Given the description of an element on the screen output the (x, y) to click on. 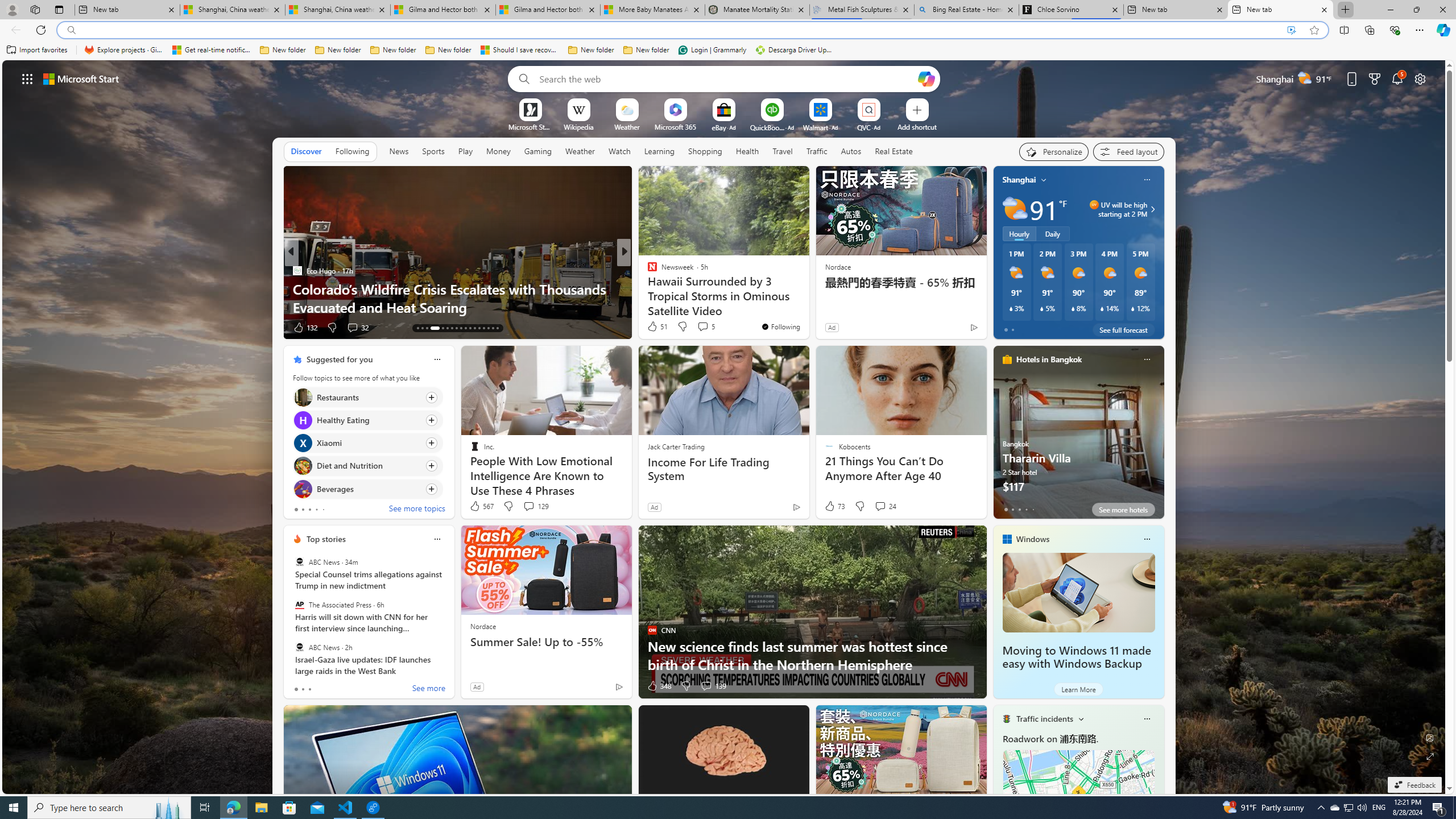
8 Like (651, 327)
Travel (782, 151)
Top stories (325, 538)
348 Like (658, 685)
Supreme Court Decision Could Cost Donald Trump the Election (457, 298)
Add a site (916, 126)
View comments 139 Comment (712, 685)
PC World (647, 270)
AutomationID: tab-21 (440, 328)
